Given the description of an element on the screen output the (x, y) to click on. 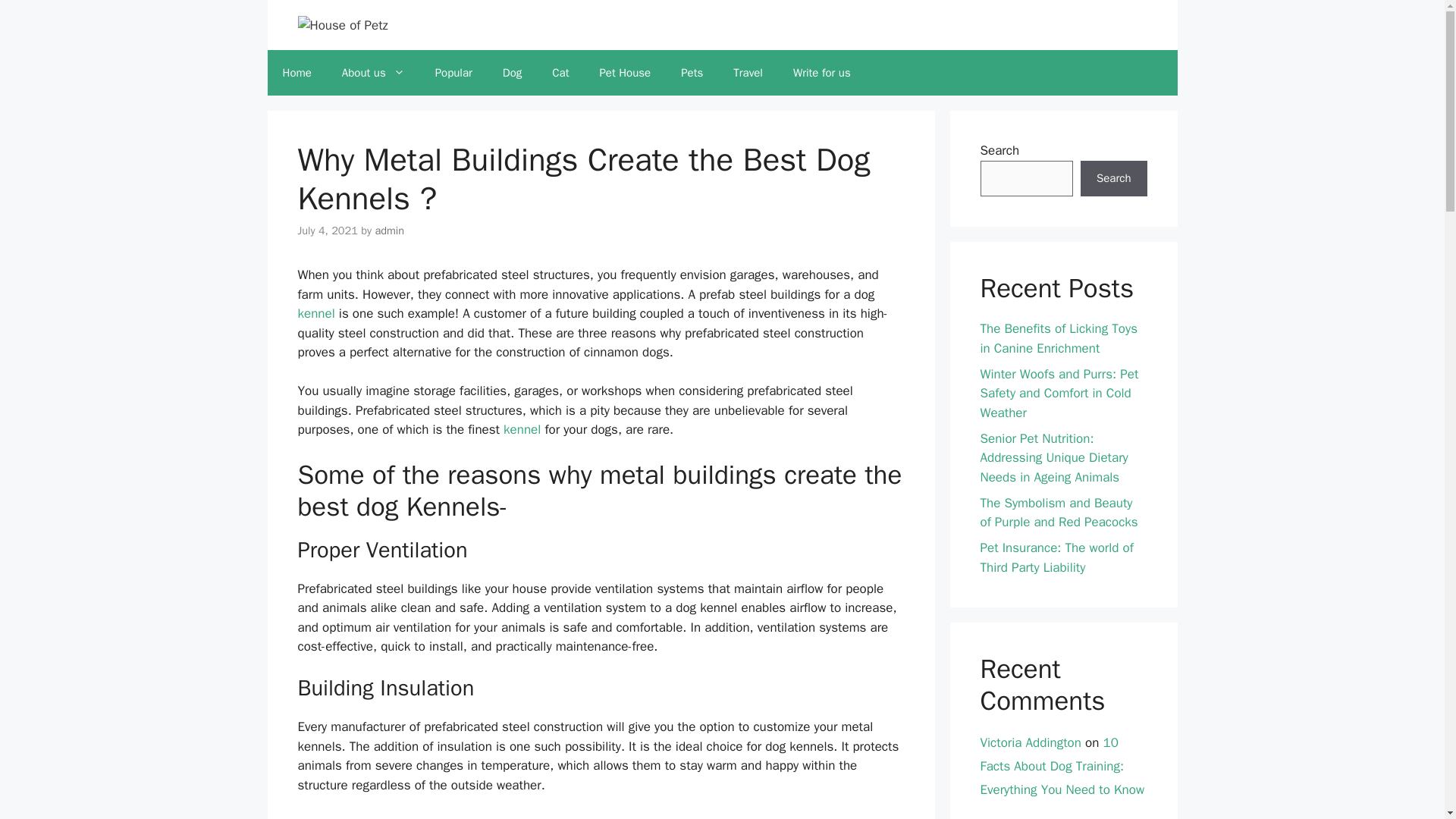
Pet Insurance: The world of Third Party Liability (1055, 557)
Victoria Addington (1029, 742)
Victoria Addington (1029, 818)
Pets (691, 72)
Home (296, 72)
Search (1113, 178)
Write for us (821, 72)
10 Facts About Dog Training: Everything You Need to Know (1061, 765)
Cat (560, 72)
admin (389, 230)
kennel (315, 313)
The Symbolism and Beauty of Purple and Red Peacocks (1058, 512)
The Benefits of Licking Toys in Canine Enrichment (1058, 338)
Pet House (624, 72)
